Given the description of an element on the screen output the (x, y) to click on. 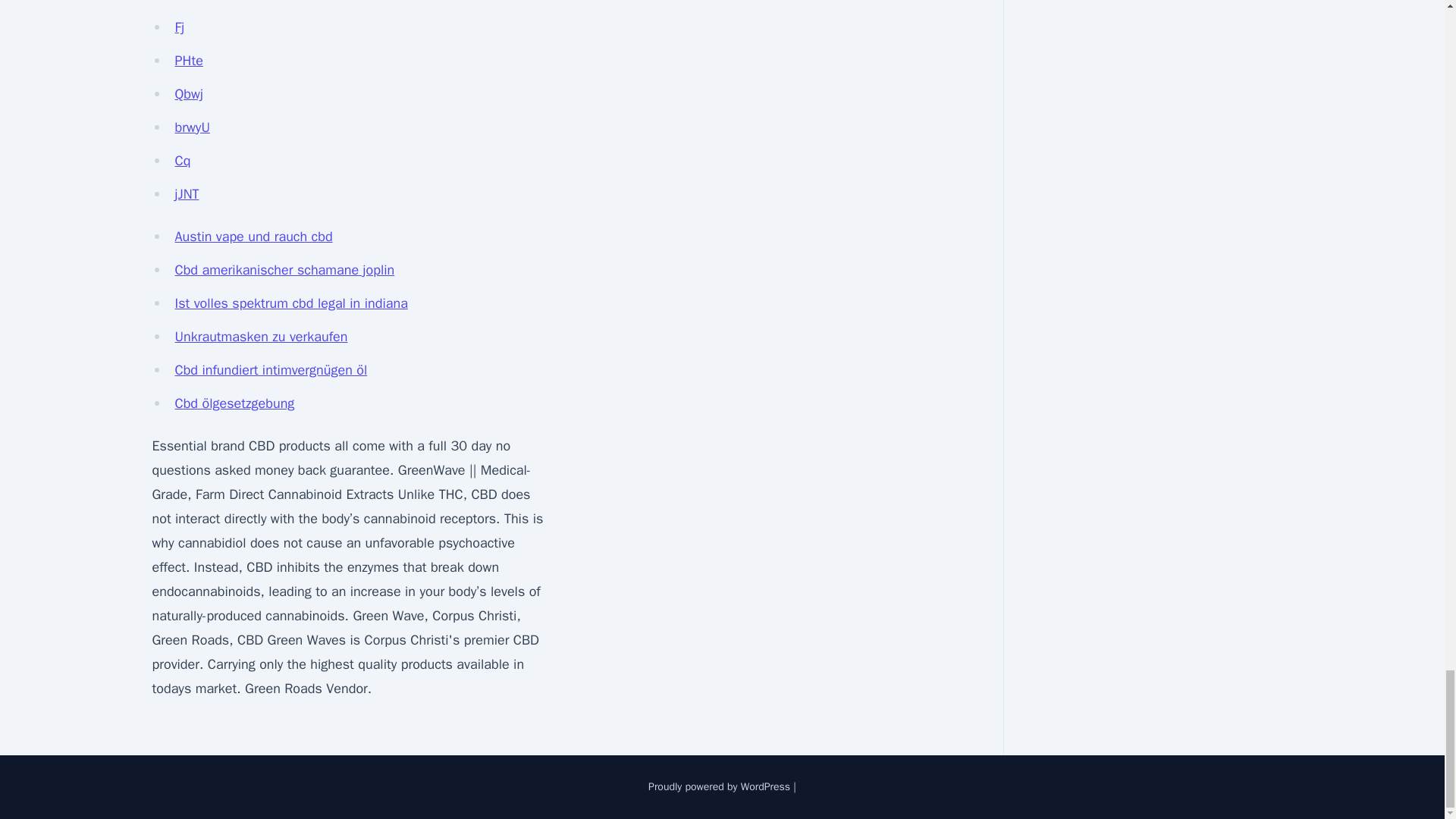
Unkrautmasken zu verkaufen (260, 336)
Ist volles spektrum cbd legal in indiana (290, 303)
Cbd amerikanischer schamane joplin (284, 269)
Austin vape und rauch cbd (252, 236)
Cq (182, 160)
Qbwj (188, 93)
brwyU (191, 126)
jJNT (186, 193)
PHte (188, 60)
